Given the description of an element on the screen output the (x, y) to click on. 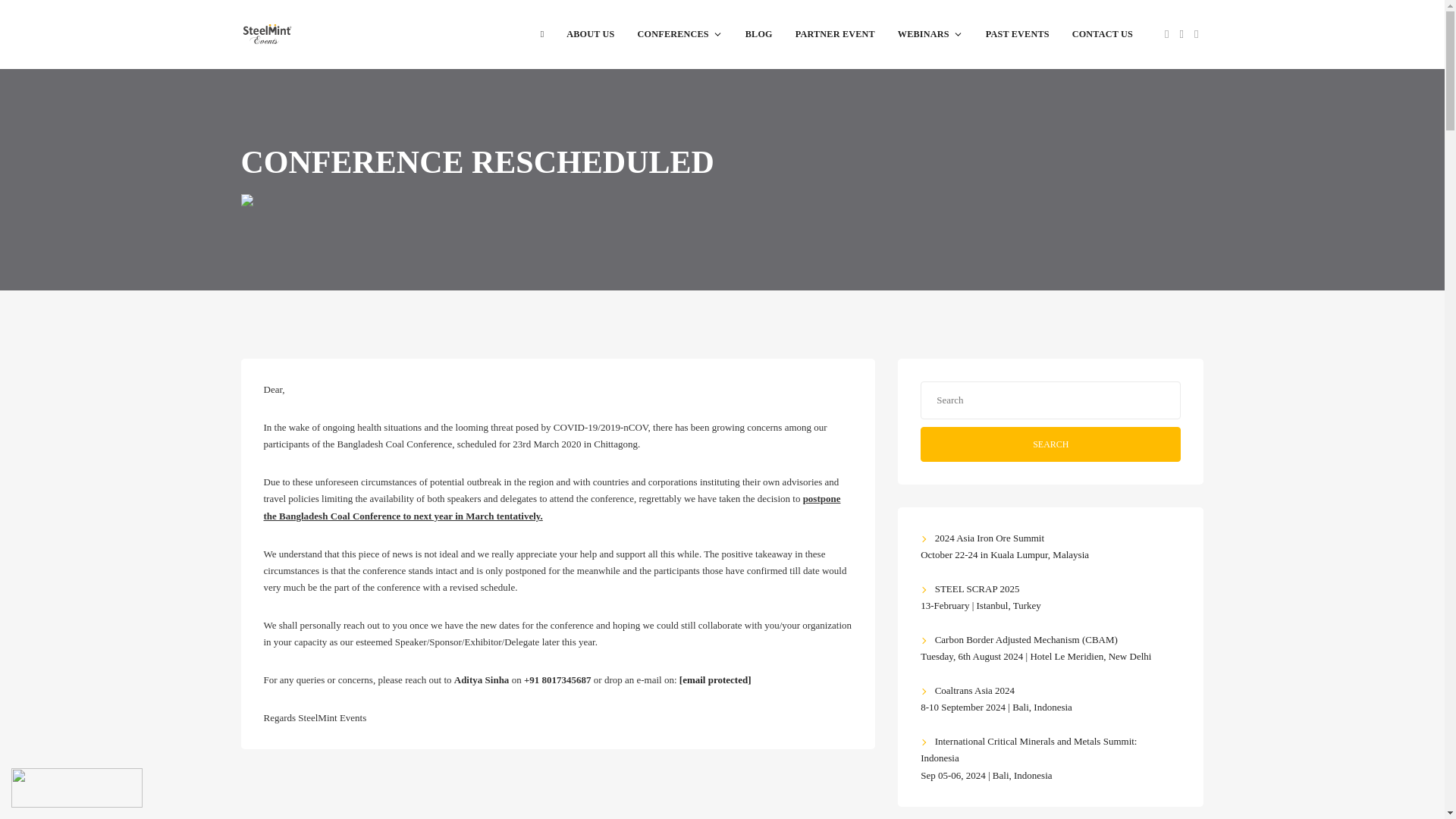
PARTNER EVENT (835, 33)
WEBINARS (930, 33)
CONTACT US (1102, 33)
BLOG (758, 33)
CONFERENCES (679, 33)
ABOUT US (590, 33)
PAST EVENTS (1017, 33)
